Given the description of an element on the screen output the (x, y) to click on. 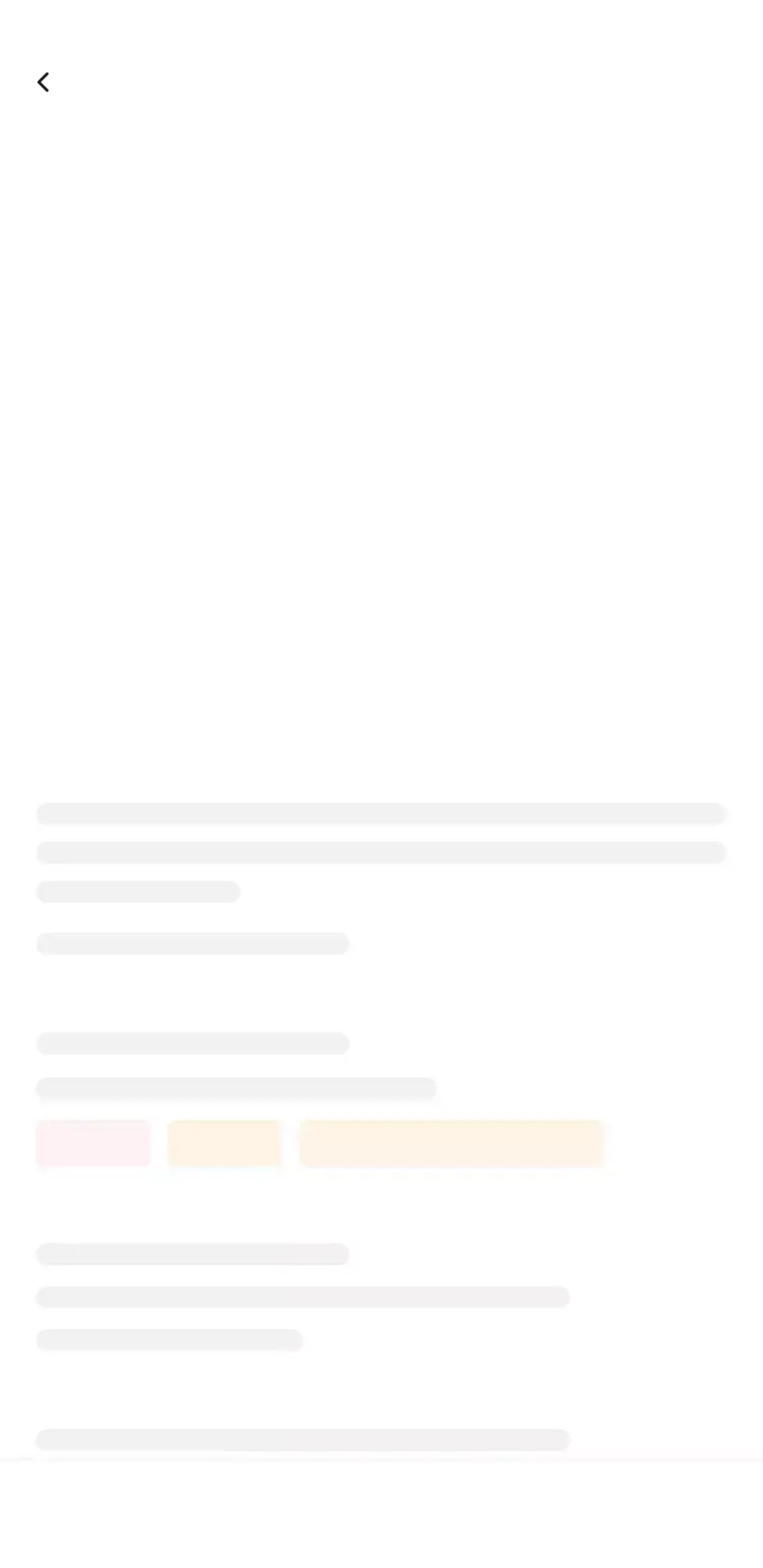
Navigate up (44, 82)
